Given the description of an element on the screen output the (x, y) to click on. 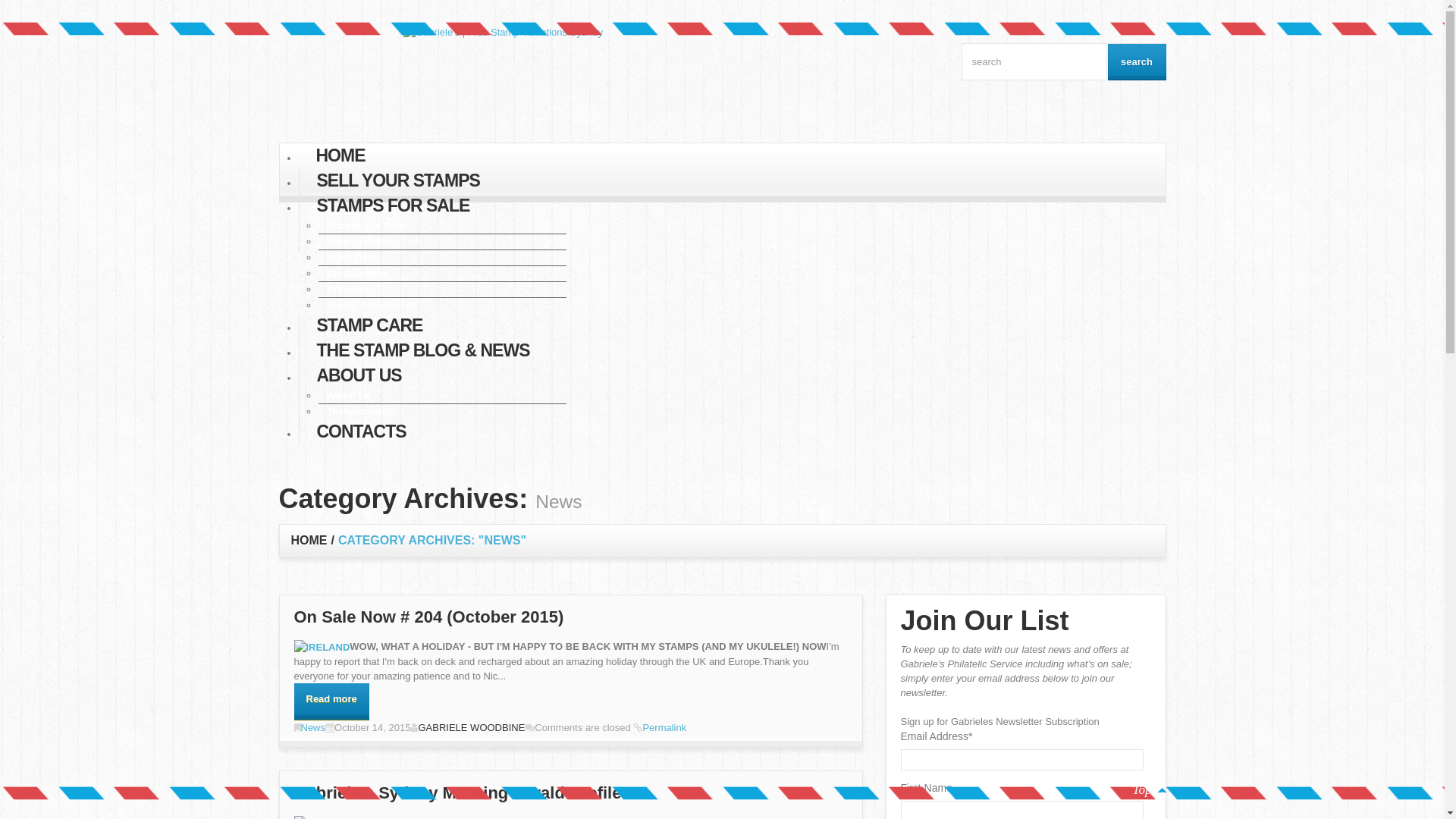
Permalink Element type: text (664, 727)
How To Order Element type: text (355, 240)
Pricelists Element type: text (344, 288)
SELL YOUR STAMPS Element type: text (397, 173)
Want Lists Element type: text (347, 256)
THE STAMP BLOG & NEWS Element type: text (422, 343)
News Element type: text (312, 727)
Stamps For Sale Element type: text (361, 224)
About Us Element type: text (344, 394)
Testimonials Element type: text (352, 410)
STAMPS FOR SALE Element type: text (392, 198)
Read more Element type: text (331, 701)
GABRIELE WOODBINE Element type: text (470, 727)
CONTACTS Element type: text (360, 424)
search Element type: text (1136, 61)
HOME Element type: text (309, 539)
ABOUT US Element type: text (358, 368)
STAMP CARE Element type: text (368, 318)
Stamp Accessories Element type: text (367, 304)
On Sale Now # 204 (October 2015) Element type: text (429, 616)
HOME Element type: text (340, 148)
On Sale Now Element type: text (352, 272)
